Given the description of an element on the screen output the (x, y) to click on. 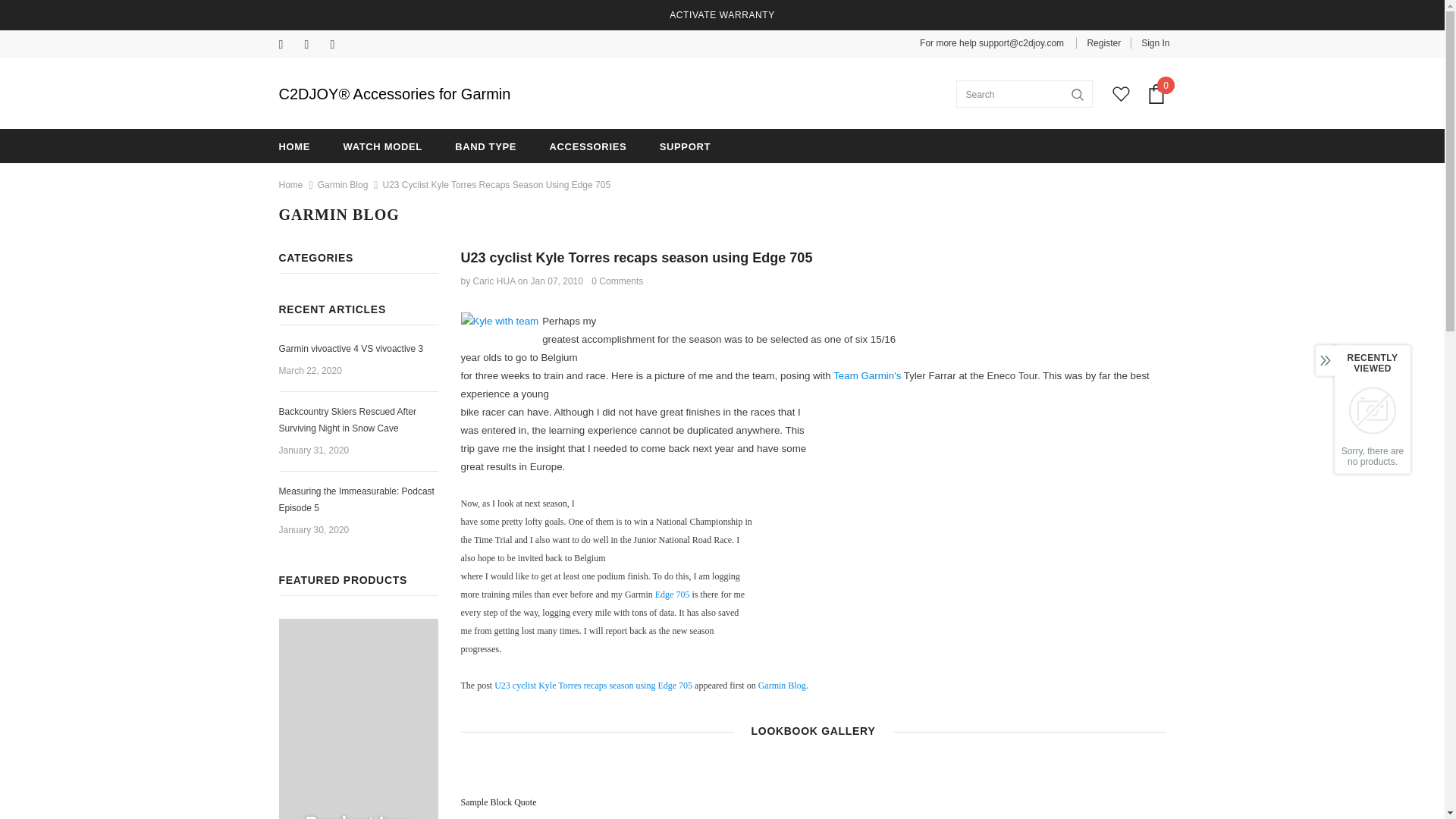
HOME (295, 145)
Sign In (1150, 43)
Facebook (288, 45)
YouTube (339, 45)
0 (1156, 94)
Instagram (313, 45)
ACTIVATE WARRANTY (721, 15)
WATCH MODEL (382, 145)
Register (1103, 43)
